Given the description of an element on the screen output the (x, y) to click on. 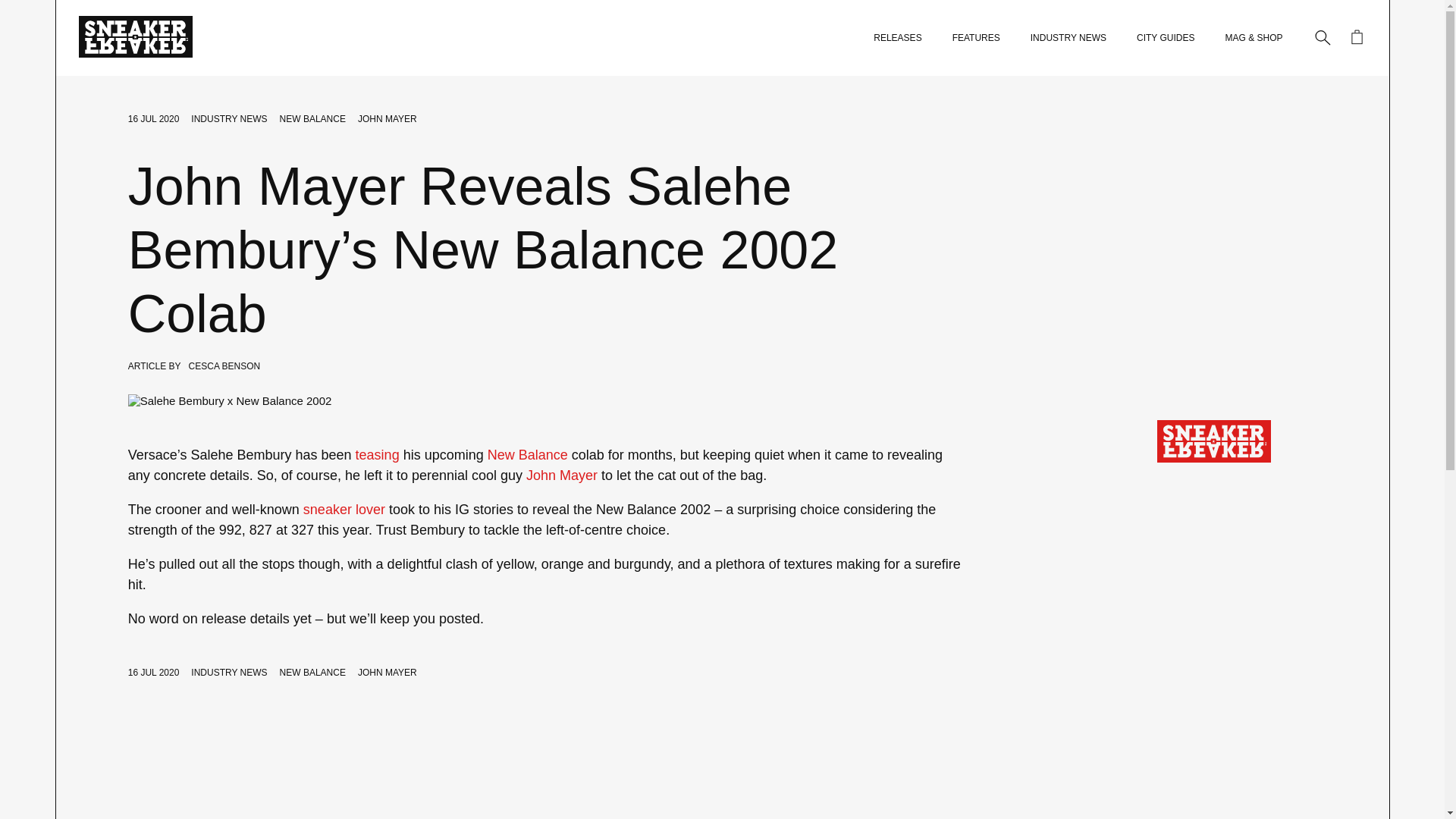
INDUSTRY NEWS (228, 672)
RELEASES (897, 37)
JOHN MAYER (387, 672)
FEATURES (976, 37)
CESCA BENSON (224, 366)
John Mayer (560, 475)
JOHN MAYER (387, 118)
NEW BALANCE (312, 118)
sneaker lover (343, 509)
INDUSTRY NEWS (1068, 37)
INDUSTRY NEWS (228, 118)
CITY GUIDES (1165, 37)
teasing (376, 454)
New Balance (527, 454)
NEW BALANCE (312, 672)
